Given the description of an element on the screen output the (x, y) to click on. 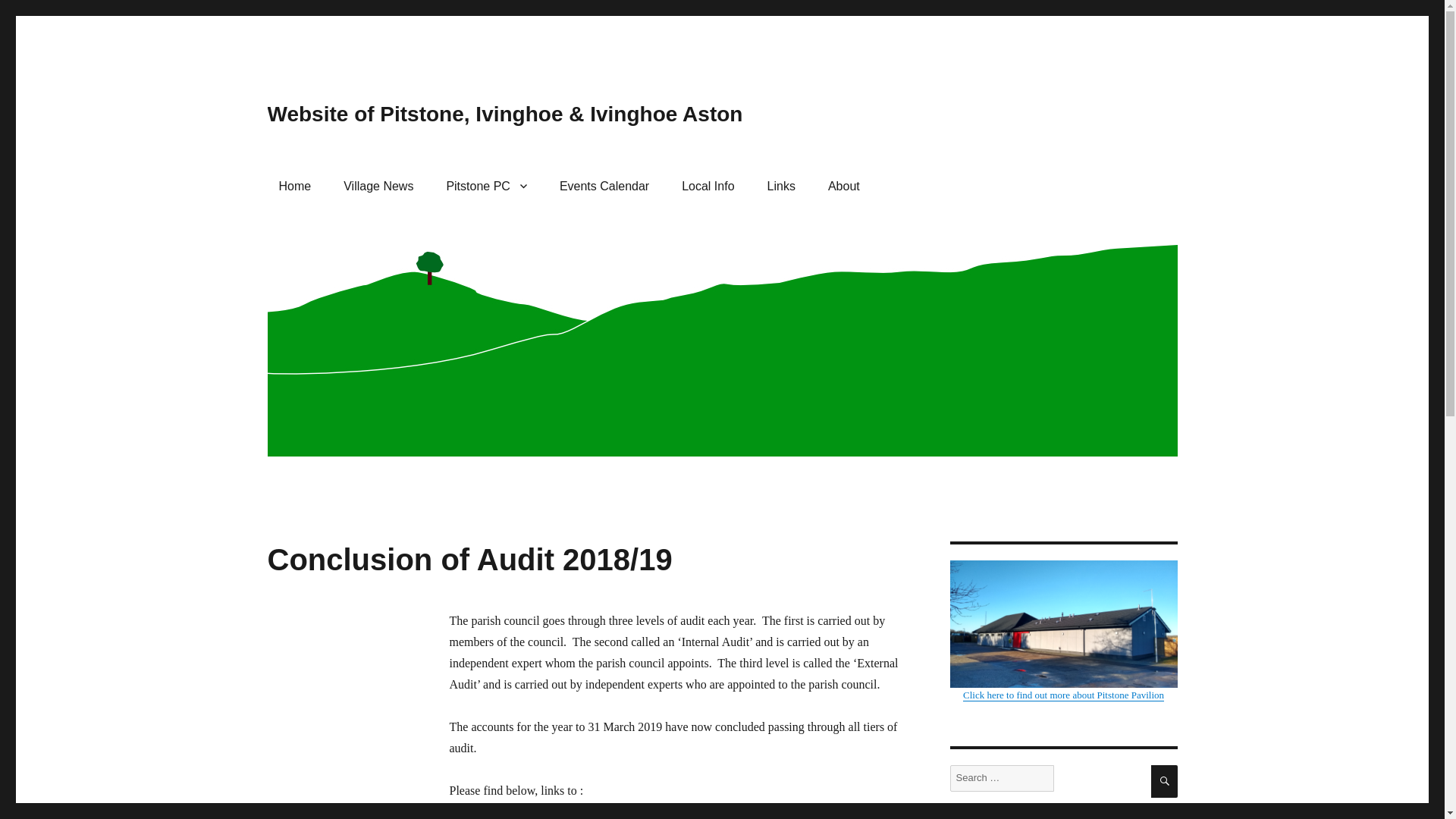
Events Calendar (603, 185)
About (843, 185)
Pitstone Parish Council (486, 185)
Home (294, 185)
Village News (378, 185)
Local Info (707, 185)
Click here to find out more about Pitstone Pavilion (1062, 630)
Pitstone PC (486, 185)
Links (781, 185)
